Given the description of an element on the screen output the (x, y) to click on. 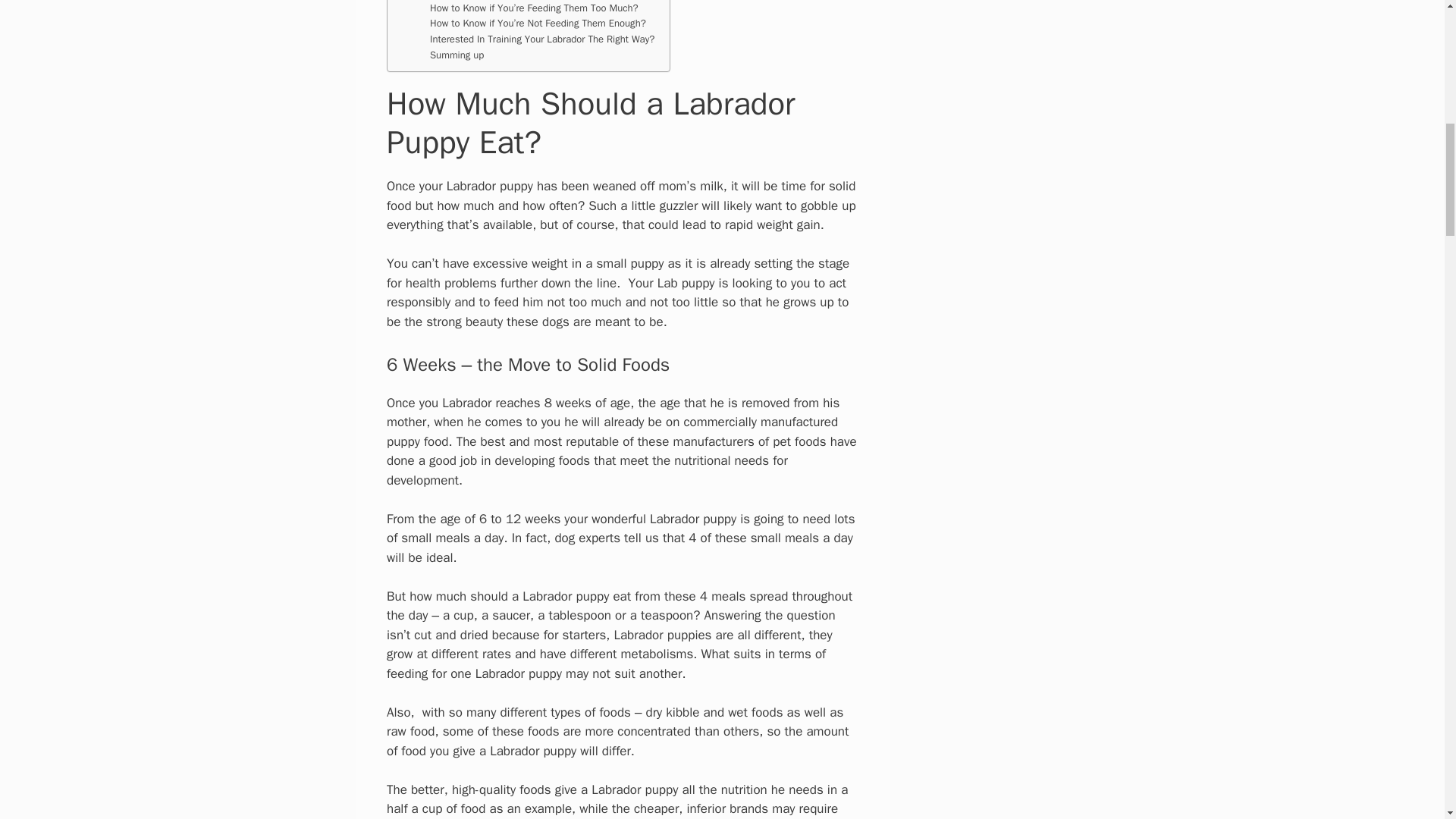
Interested In Training Your Labrador The Right Way? (541, 39)
Summing up (456, 55)
